Given the description of an element on the screen output the (x, y) to click on. 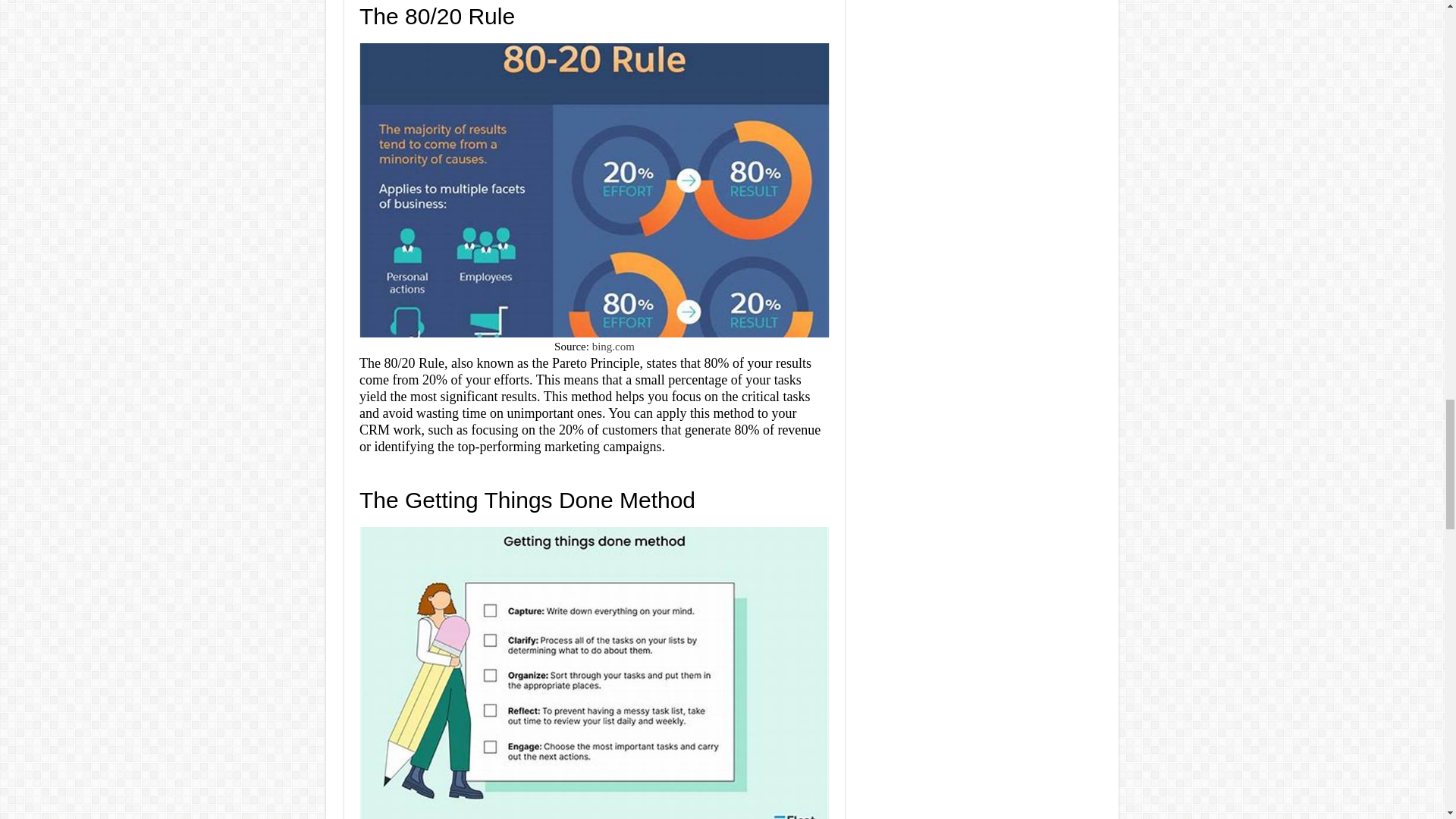
bing.com (613, 346)
